Given the description of an element on the screen output the (x, y) to click on. 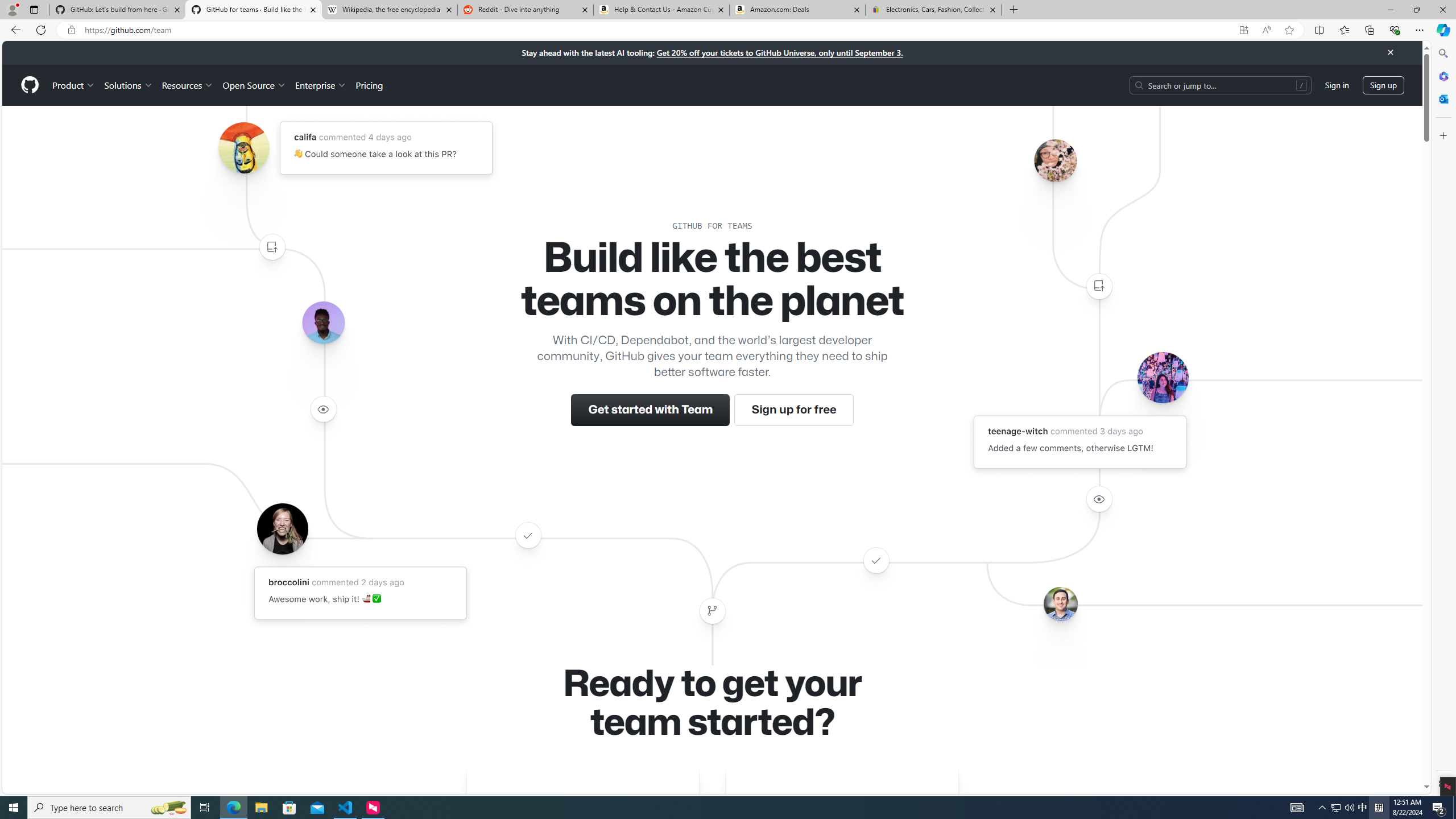
Product (74, 84)
Enterprise (319, 84)
Open Source (254, 84)
Product (74, 84)
Pricing (368, 84)
Avatar of the user benbalter (1059, 604)
Resources (187, 84)
Help & Contact Us - Amazon Customer Service (660, 9)
